Given the description of an element on the screen output the (x, y) to click on. 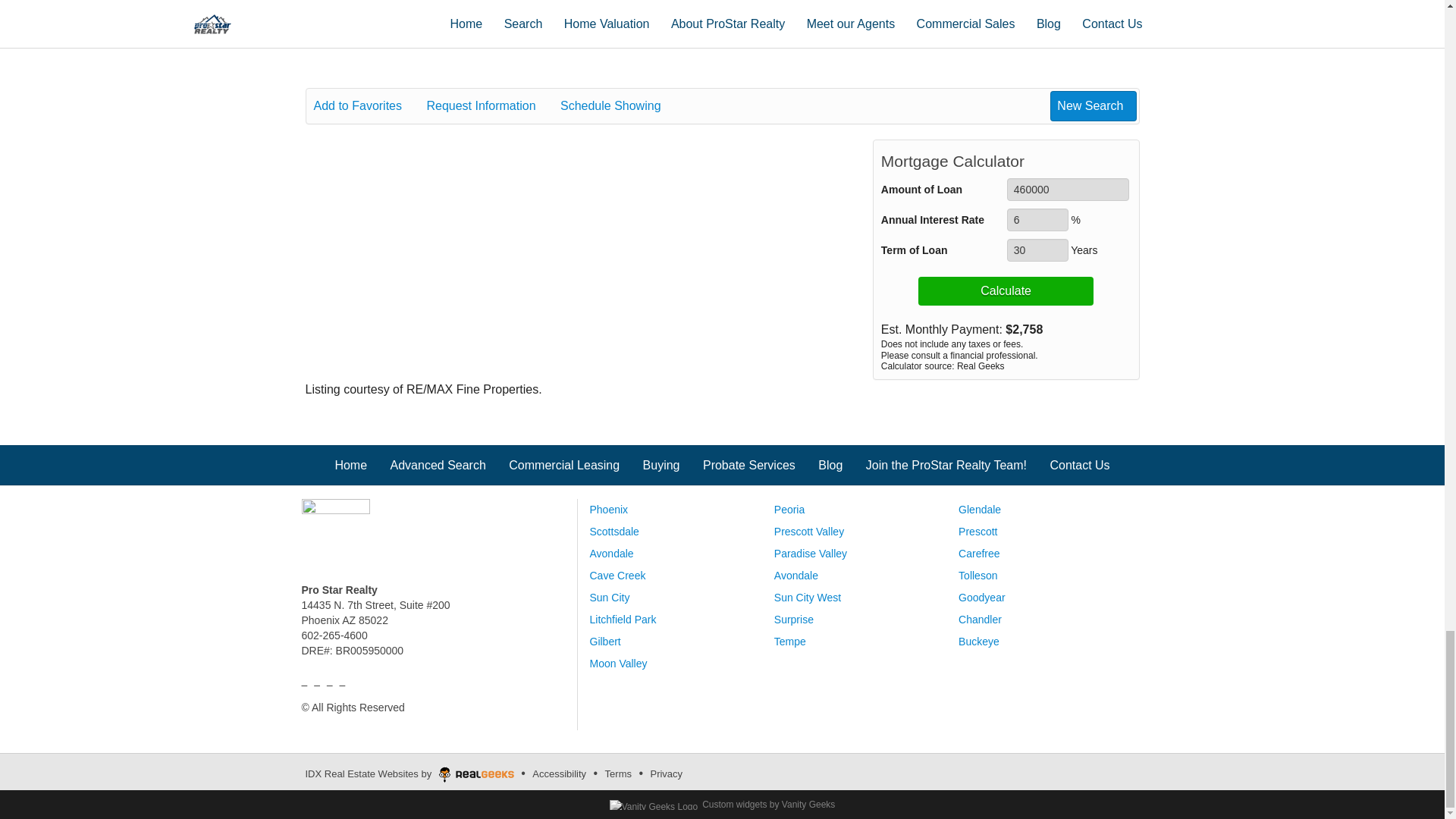
6 (1037, 219)
460000 (1068, 189)
30 (1037, 250)
